Given the description of an element on the screen output the (x, y) to click on. 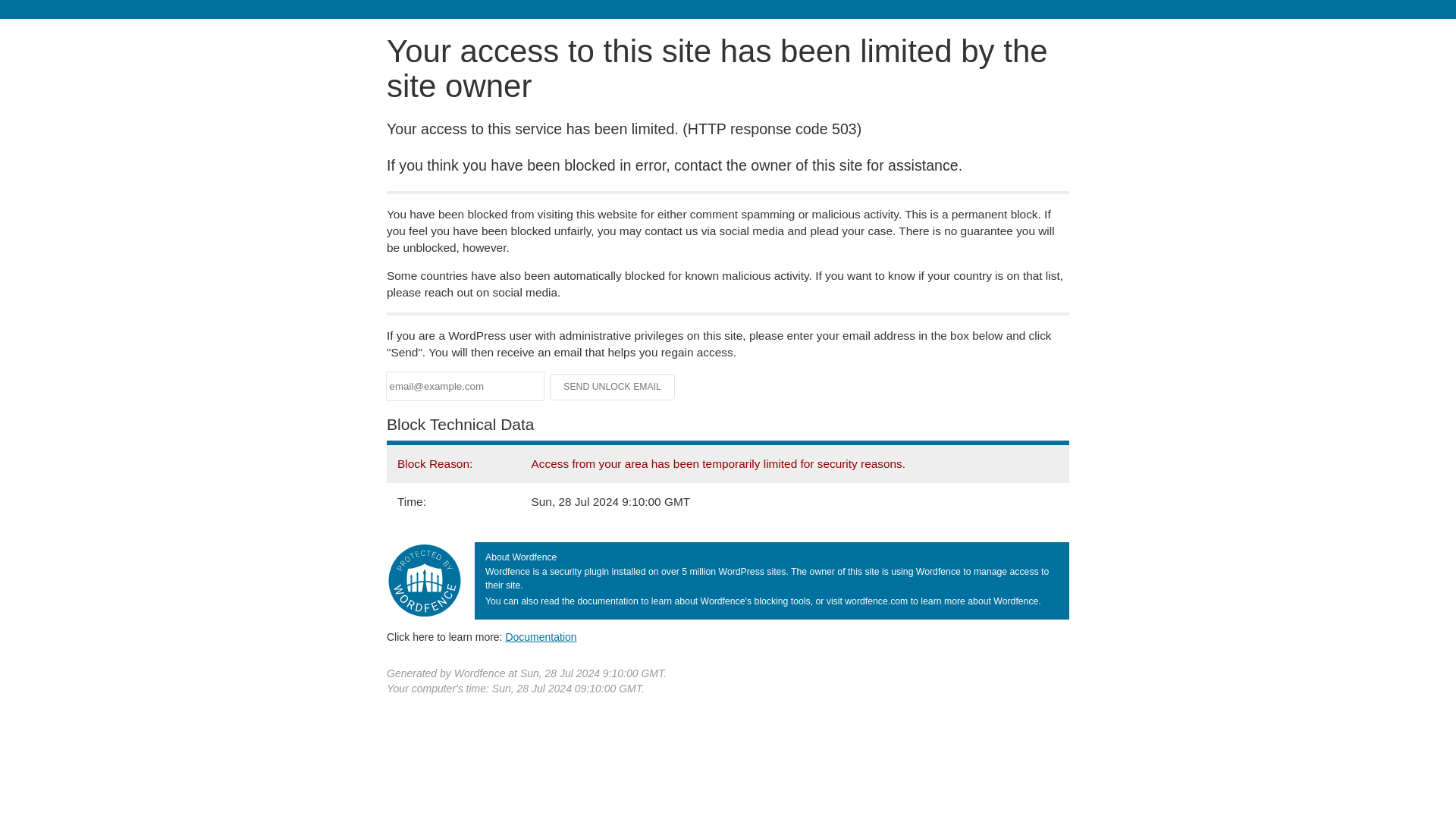
Send Unlock Email (612, 386)
Send Unlock Email (612, 386)
Documentation (540, 636)
